Given the description of an element on the screen output the (x, y) to click on. 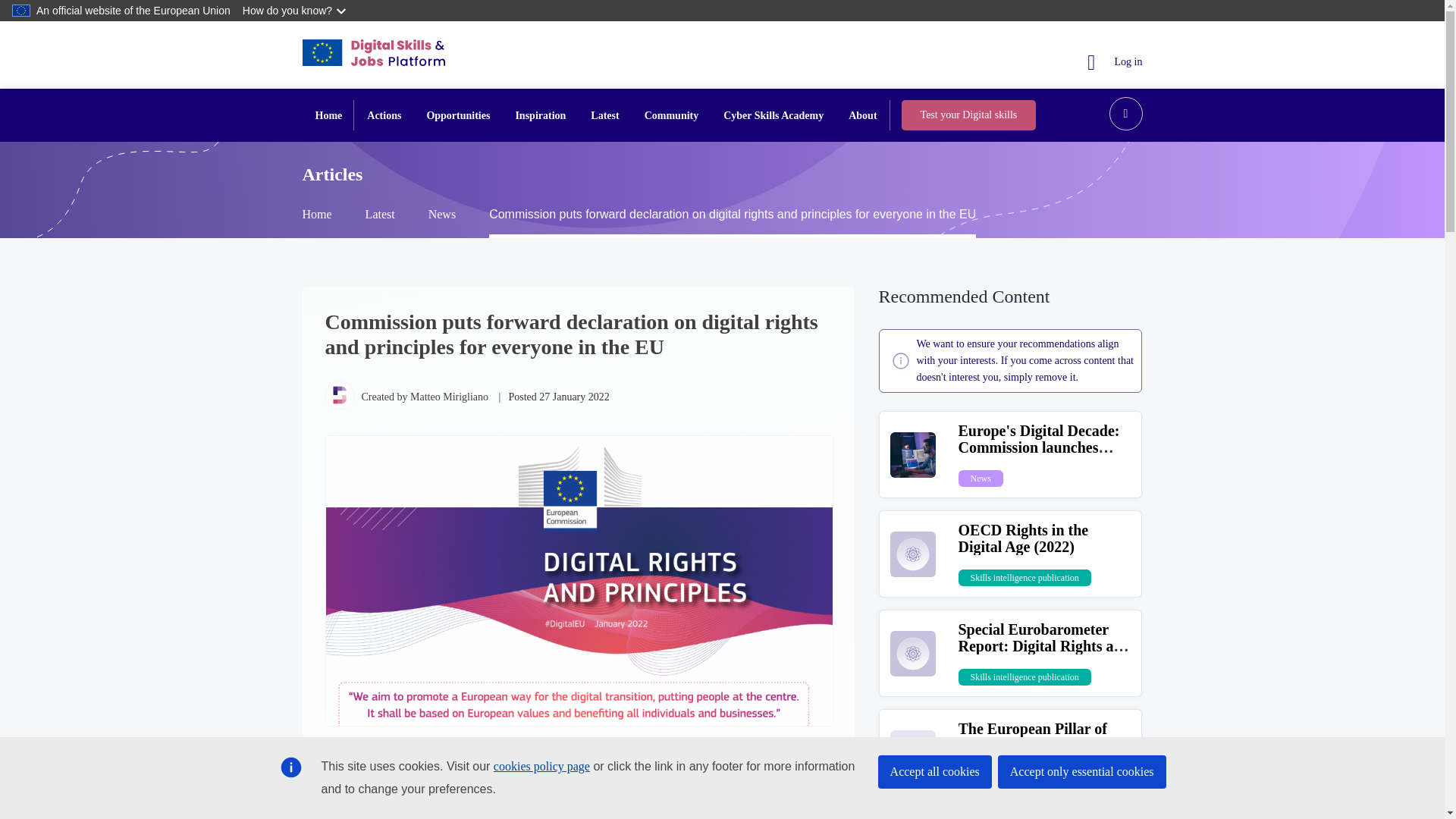
How do you know? (295, 10)
Cyber Skills Academy (773, 114)
Latest (604, 114)
Community (671, 114)
Actions (384, 114)
Accept only essential cookies (1081, 771)
Log in (1114, 61)
Accept all cookies (934, 771)
Skip to main content (6, 6)
Inspiration (540, 114)
About (861, 114)
Opportunities (457, 114)
Home (328, 114)
The European Pillar of Social Rights Action Plan (1040, 736)
